Given the description of an element on the screen output the (x, y) to click on. 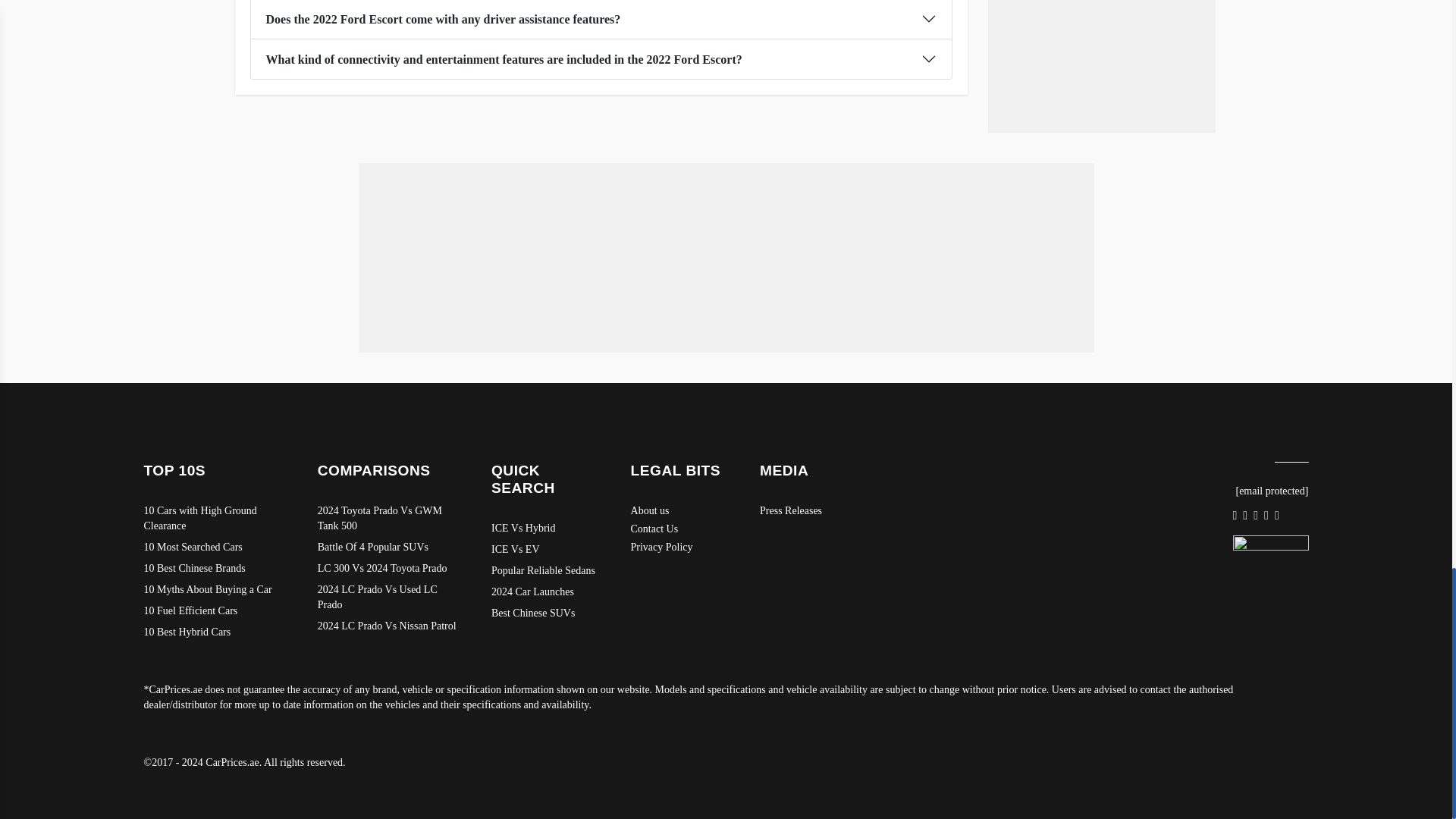
10 Myths About Buying a Car (215, 589)
10 Best Chinese Brands (215, 568)
2024 Toyota Prado Vs GWM Tank 500 (389, 518)
10 Fuel Efficient Cars (215, 611)
10 Most Searched Cars (215, 547)
10 Cars with High Ground Clearance (215, 518)
10 Best Hybrid Cars (215, 631)
